Given the description of an element on the screen output the (x, y) to click on. 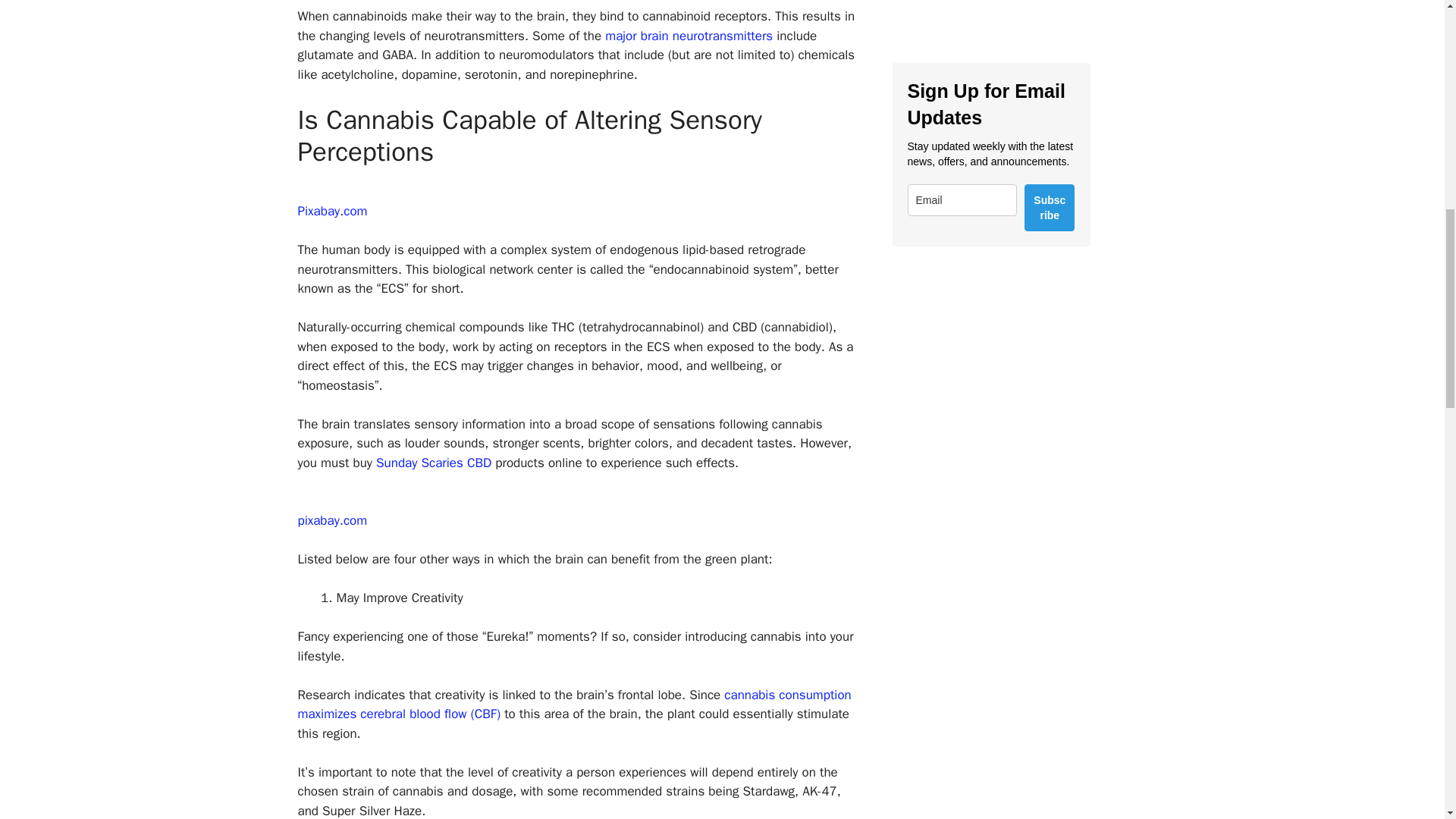
Pixabay.com (331, 211)
pixabay.com (331, 520)
major brain neurotransmitters (689, 35)
Sunday Scaries CBD (433, 462)
